Given the description of an element on the screen output the (x, y) to click on. 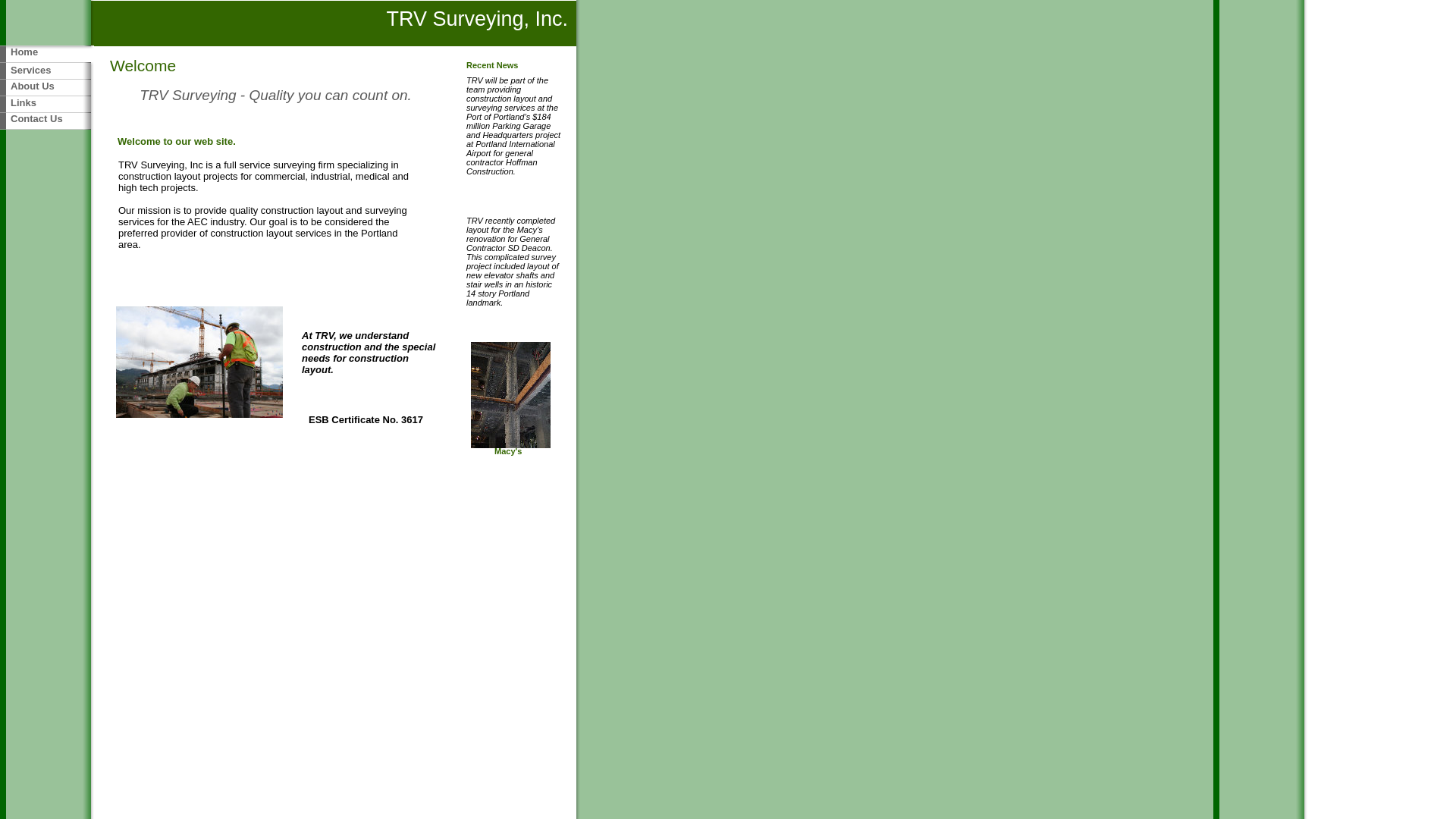
About Us (32, 85)
Home (23, 51)
Contact Us (36, 118)
Links (23, 102)
Services (30, 70)
Macy's (508, 450)
